Given the description of an element on the screen output the (x, y) to click on. 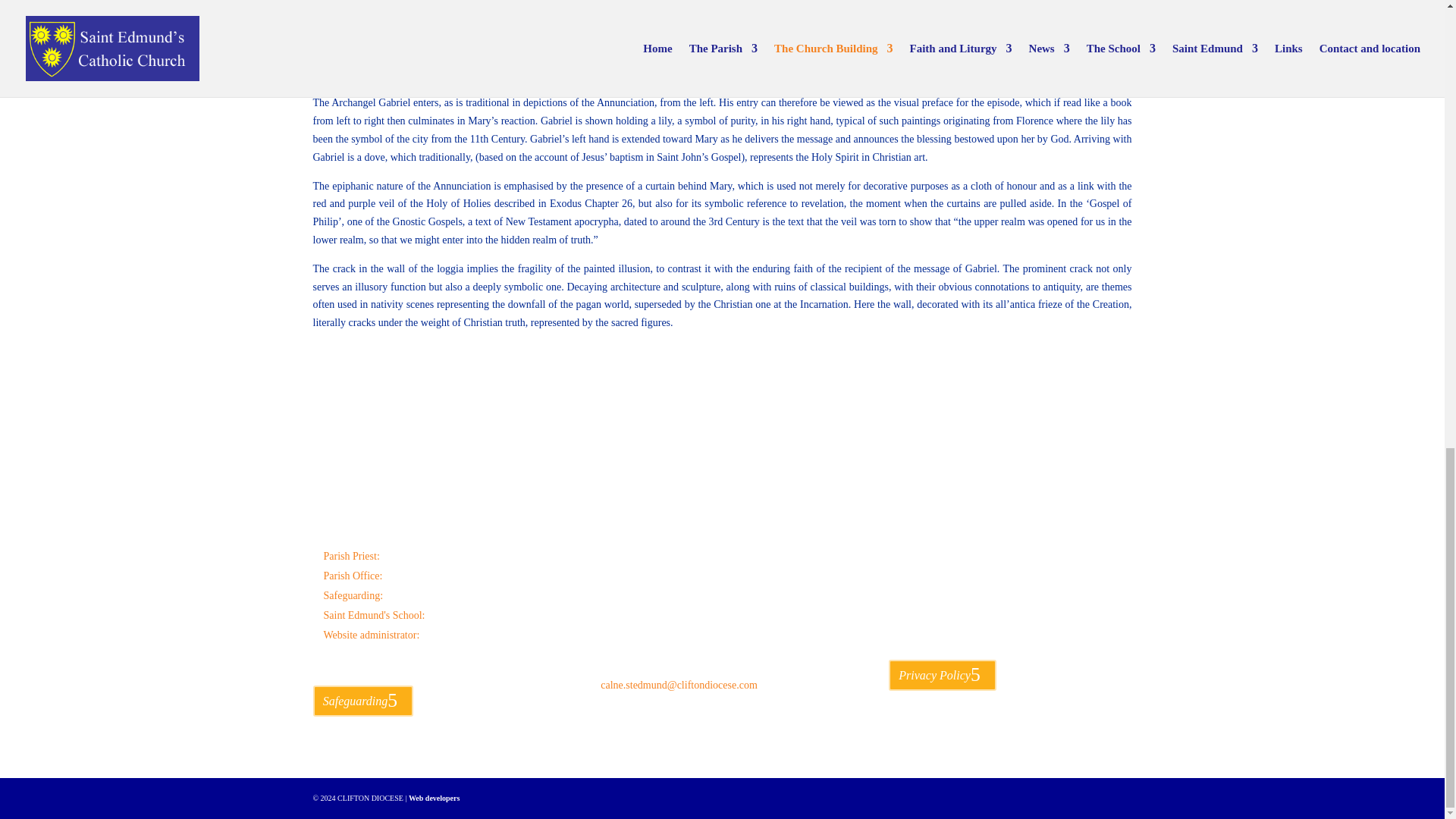
Bristol Web designers YZ DESIGNS (434, 797)
